Given the description of an element on the screen output the (x, y) to click on. 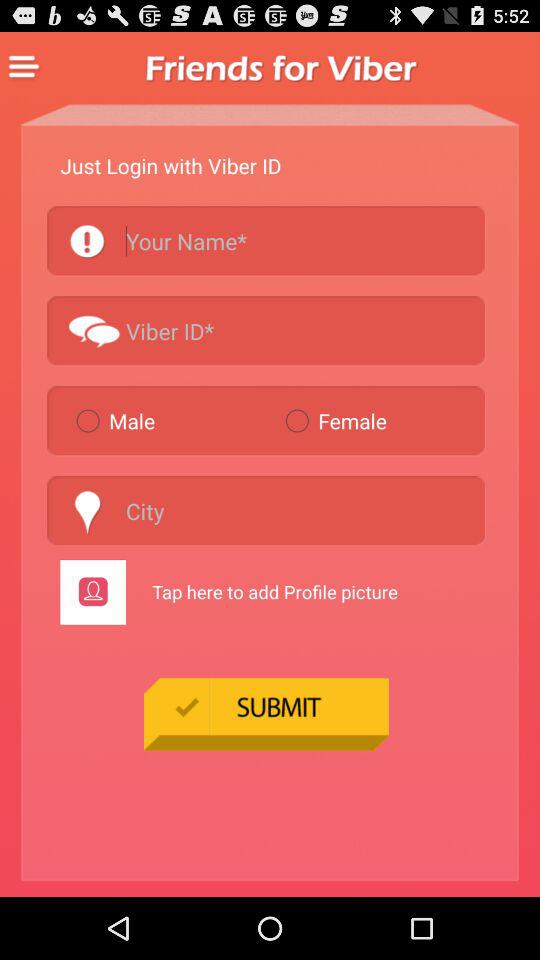
submit button (266, 713)
